Given the description of an element on the screen output the (x, y) to click on. 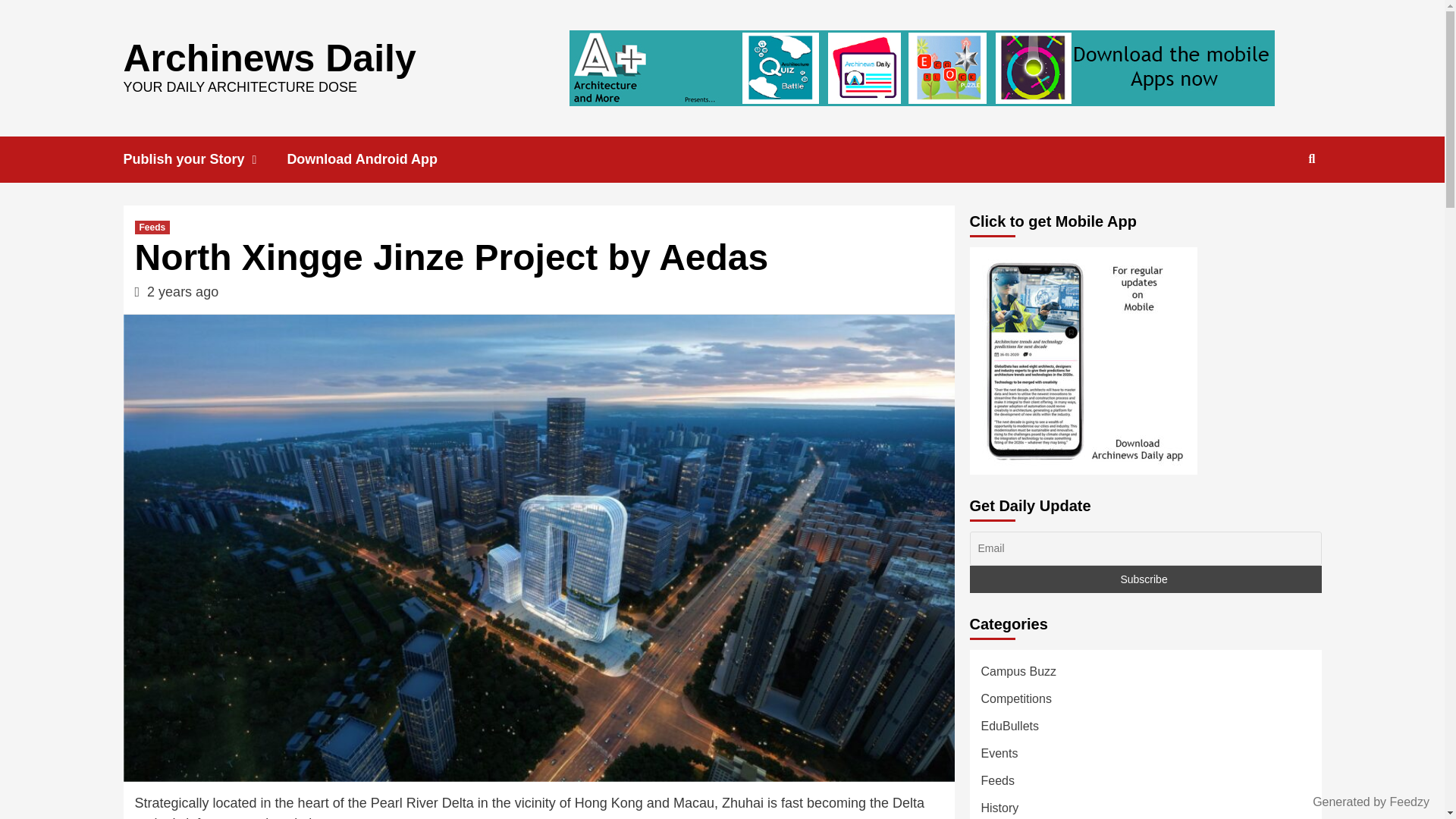
Archinews Daily (268, 57)
Feeds (152, 227)
Click to get Mobile App (1082, 361)
Publish your Story (204, 159)
Download Android App (373, 159)
Subscribe  (1144, 578)
2 years ago (182, 291)
Search (1276, 207)
